Given the description of an element on the screen output the (x, y) to click on. 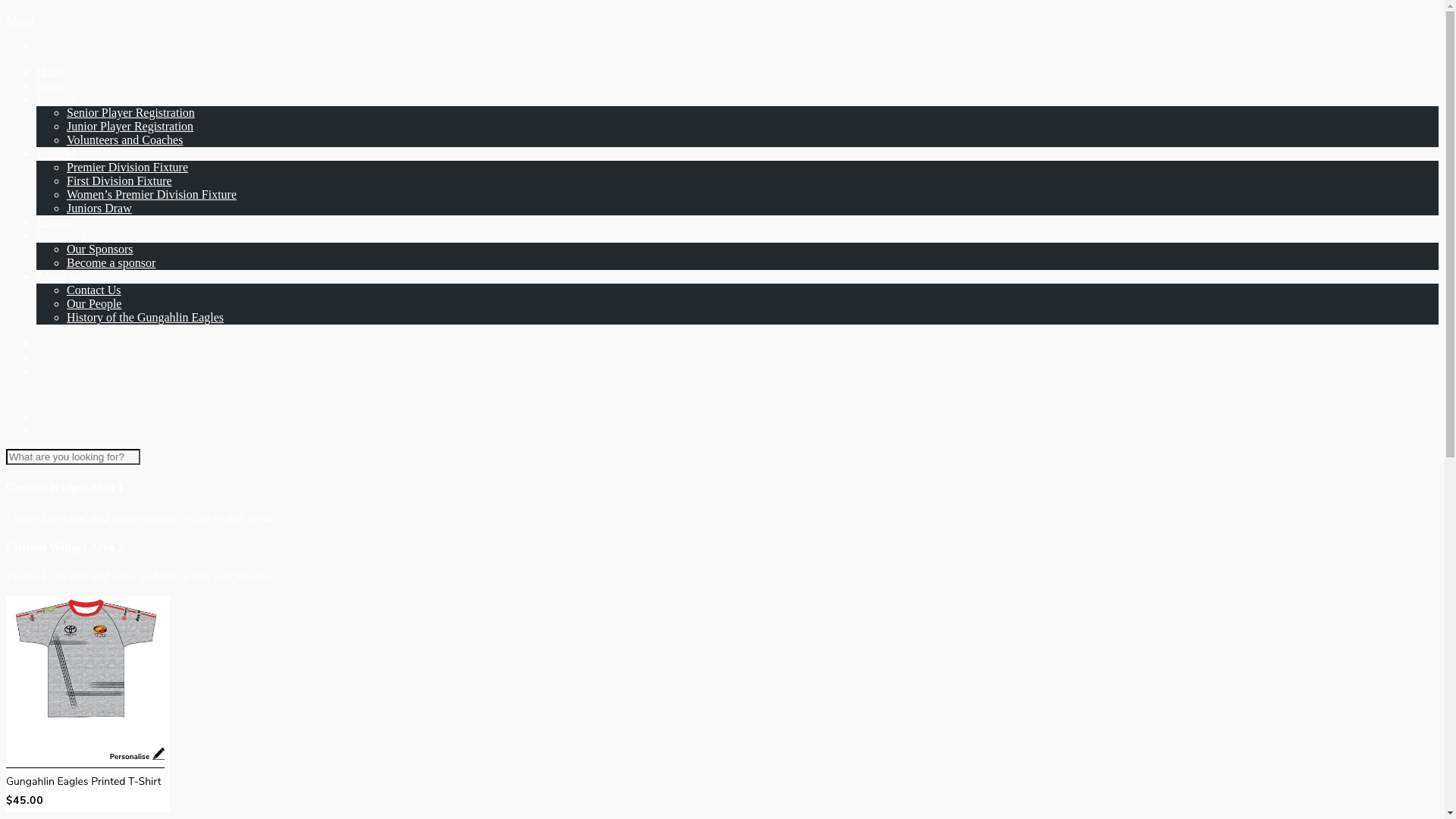
Juniors Element type: text (53, 221)
History of the Gungahlin Eagles Element type: text (144, 316)
Volunteers and Coaches Element type: text (124, 139)
Register Element type: text (56, 98)
Our Sponsors Element type: text (99, 248)
Contact Us Element type: text (93, 289)
News Element type: text (49, 84)
Become a sponsor Element type: text (110, 262)
Home Element type: text (50, 71)
Juniors Draw Element type: text (98, 207)
Sponsorship Element type: text (66, 235)
First Division Fixture Element type: text (119, 180)
Fixtures Element type: text (55, 153)
Our People Element type: text (93, 303)
Premier Division Fixture Element type: text (127, 166)
Senior Player Registration Element type: text (130, 112)
Junior Player Registration Element type: text (129, 125)
About us Element type: text (58, 275)
Menu Element type: text (20, 19)
